Given the description of an element on the screen output the (x, y) to click on. 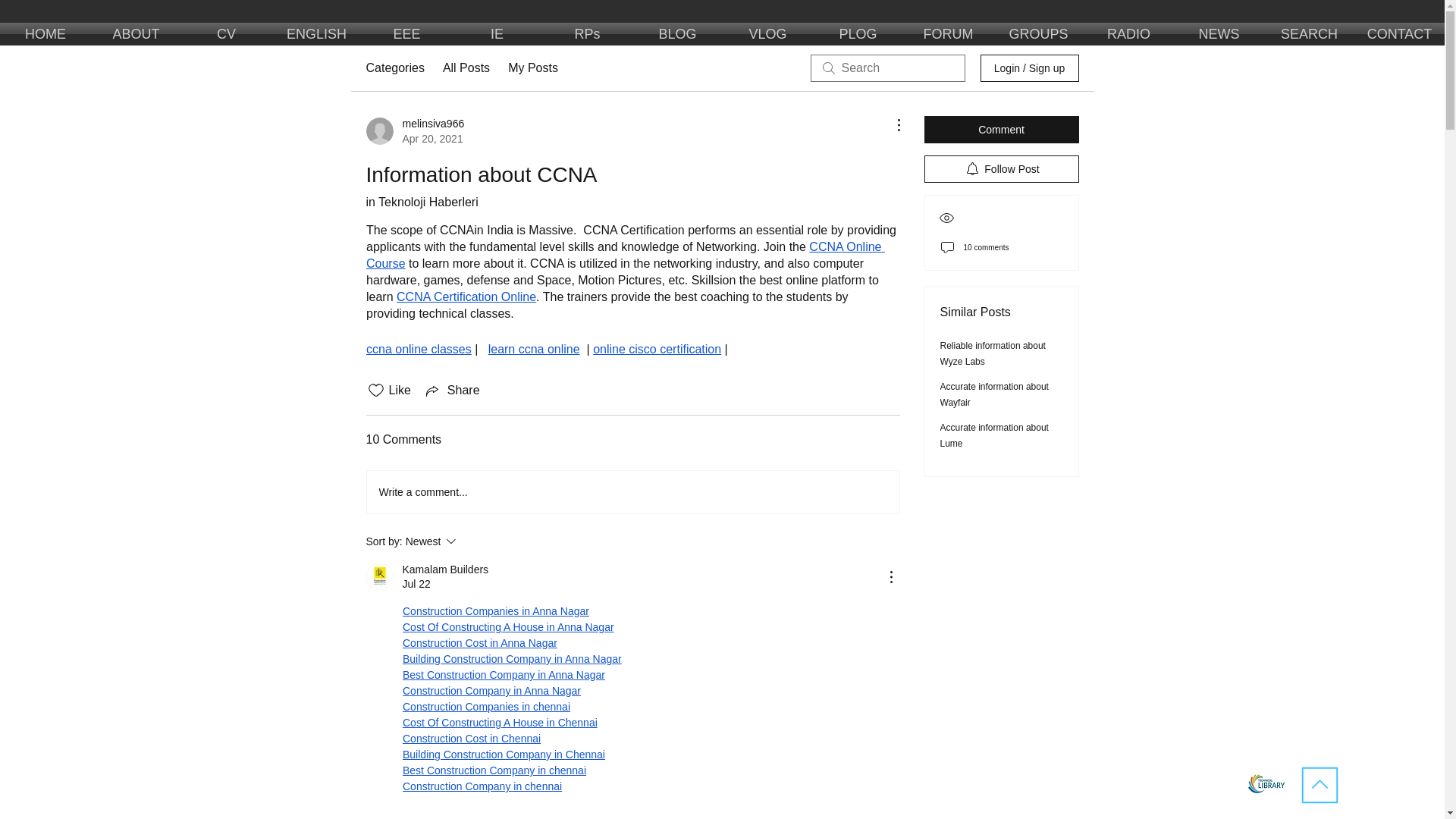
ABOUT (135, 33)
HOME (45, 33)
BLOG (676, 33)
ENGLISH (315, 33)
RPs (586, 33)
CV (225, 33)
Kamalam Builders (379, 576)
EEE (406, 33)
IE (496, 33)
